Given the description of an element on the screen output the (x, y) to click on. 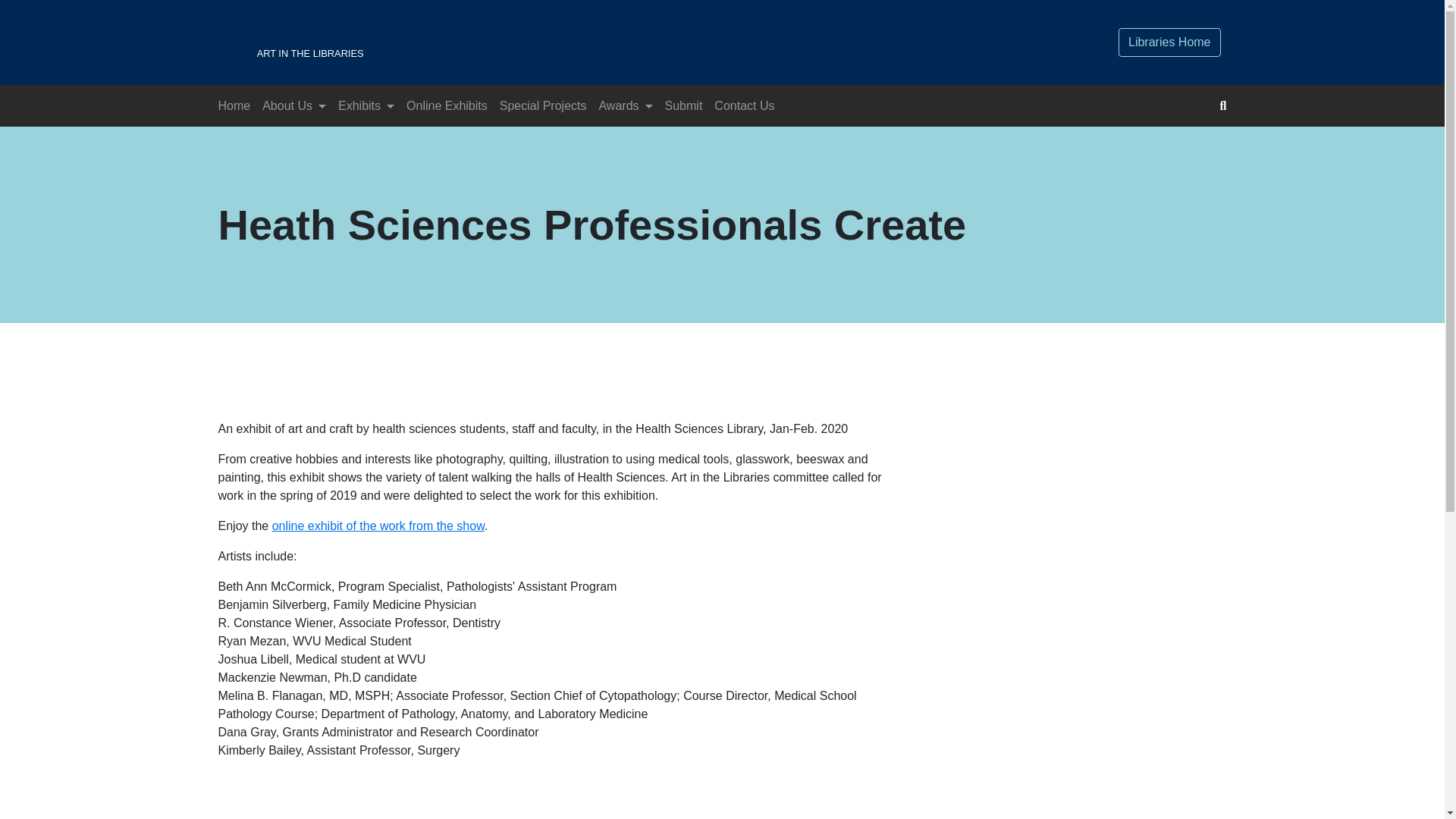
Online Exhibits (446, 105)
About Us (293, 105)
Submit (684, 105)
Libraries Home (1169, 41)
Home (234, 105)
Special Projects (542, 105)
Exhibits (550, 42)
online exhibit of the work from the show (365, 105)
Awards (378, 525)
